Given the description of an element on the screen output the (x, y) to click on. 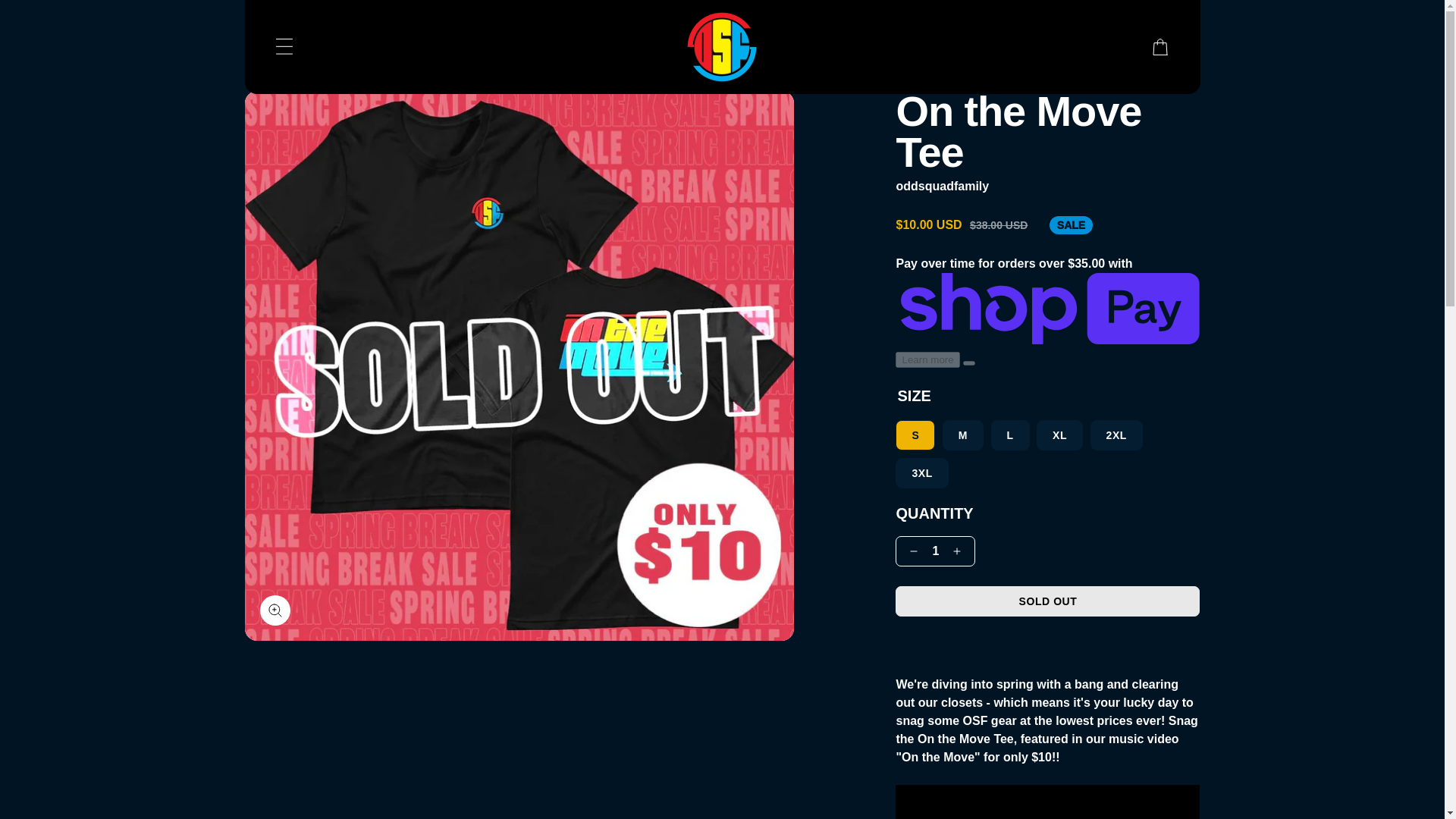
YouTube video player (1047, 801)
oddsquadfamily (721, 47)
SOLD OUT (1047, 601)
1 (935, 551)
